Given the description of an element on the screen output the (x, y) to click on. 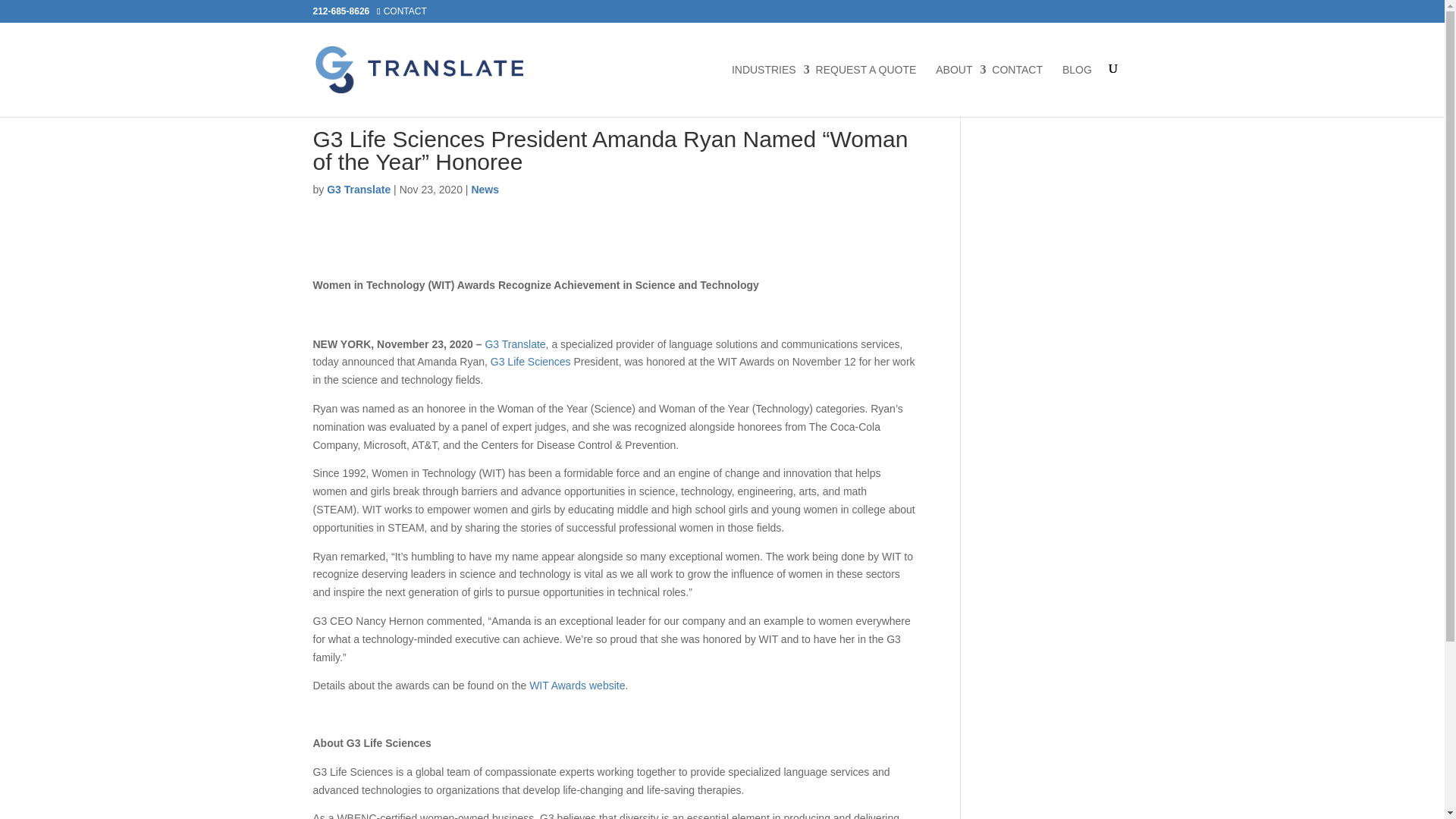
INDUSTRIES (764, 90)
G3 Translate (358, 189)
REQUEST A QUOTE (866, 90)
G3 Life Sciences (530, 361)
Posts by G3 Translate (358, 189)
News (484, 189)
CONTACT (1016, 90)
WIT Awards website (576, 685)
G3 Translate (514, 344)
CONTACT (405, 10)
